Given the description of an element on the screen output the (x, y) to click on. 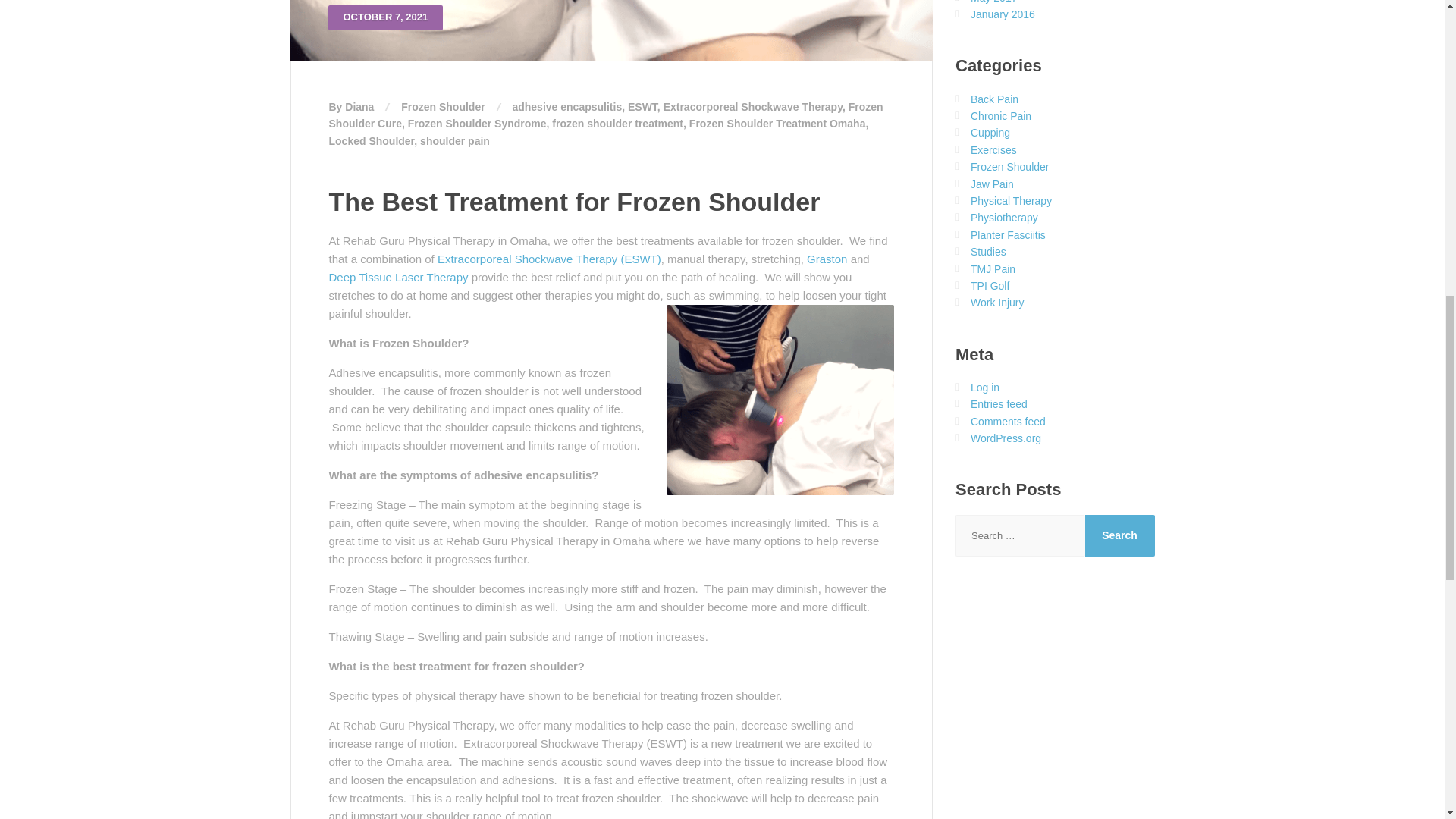
Frozen Shoulder (442, 106)
Frozen Shoulder Cure (606, 114)
ESWT (642, 106)
Frozen Shoulder Syndrome (477, 123)
Extracorporeal Shockwave Therapy (753, 106)
Search (1119, 535)
OCTOBER 7, 2021 (611, 30)
Search (1119, 535)
adhesive encapsulitis (566, 106)
